Given the description of an element on the screen output the (x, y) to click on. 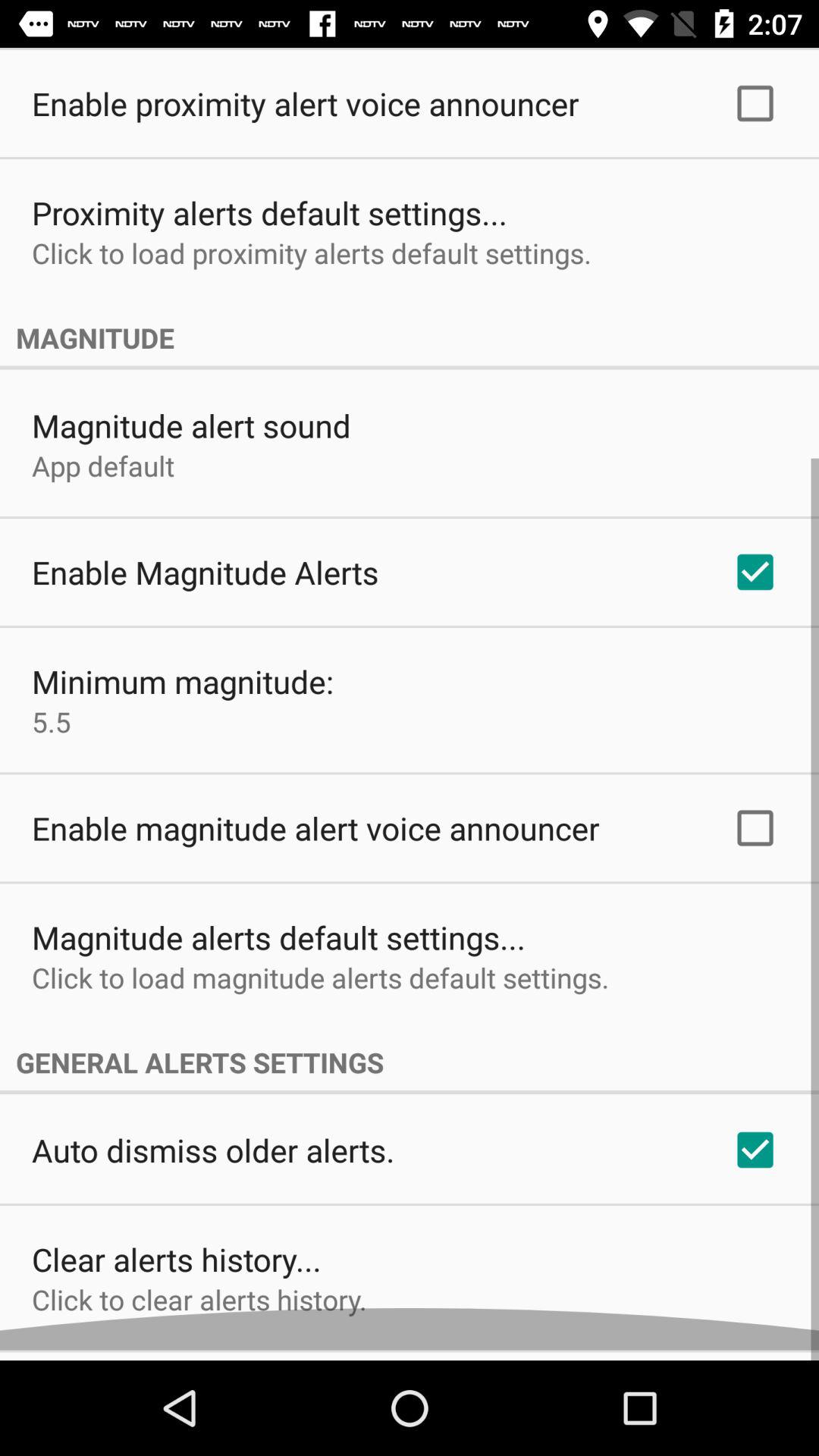
launch app below the magnitude alert sound item (102, 475)
